Given the description of an element on the screen output the (x, y) to click on. 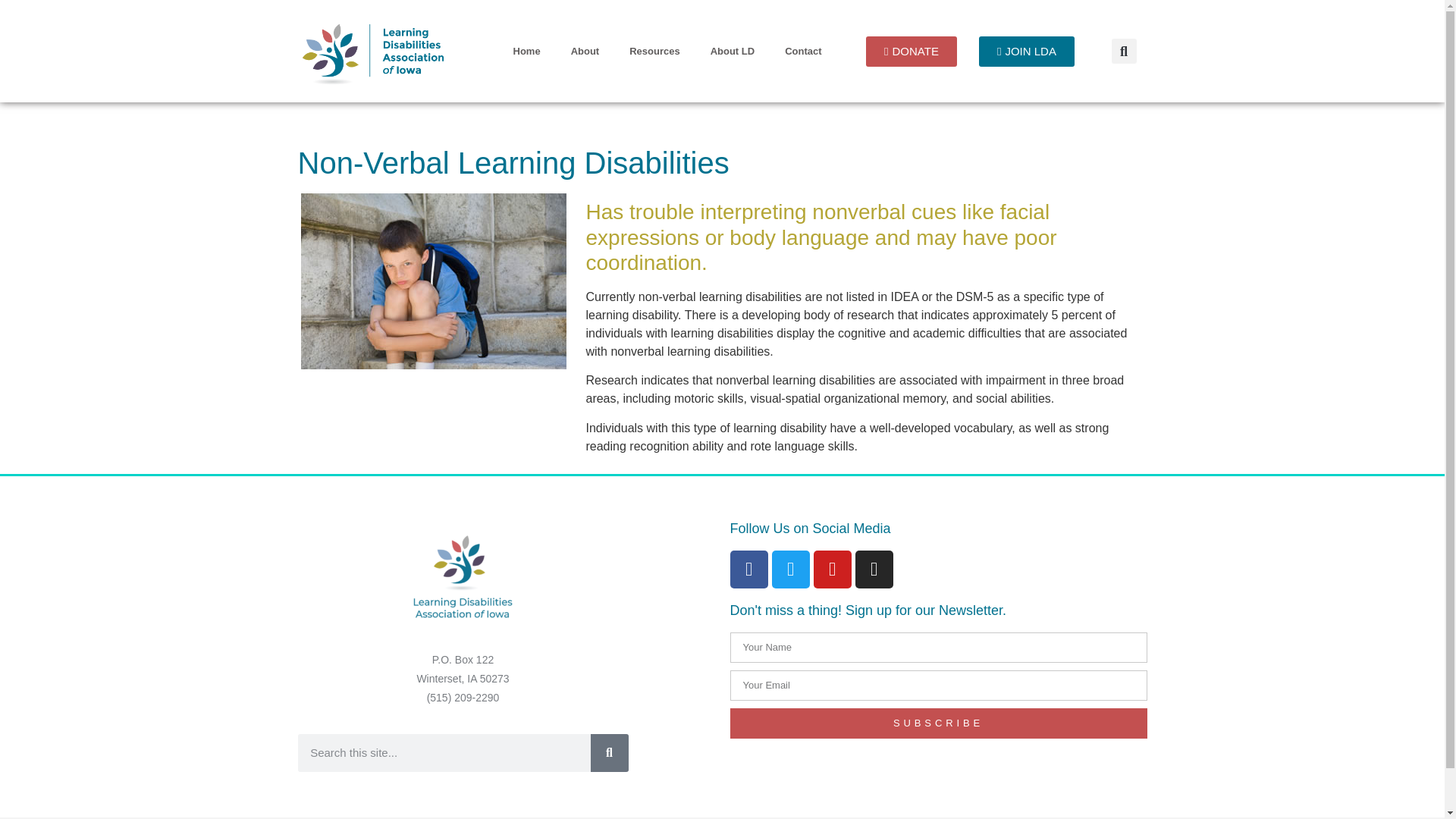
About LD (732, 50)
Home (525, 50)
Resources (654, 50)
Contact (802, 50)
About (585, 50)
